Given the description of an element on the screen output the (x, y) to click on. 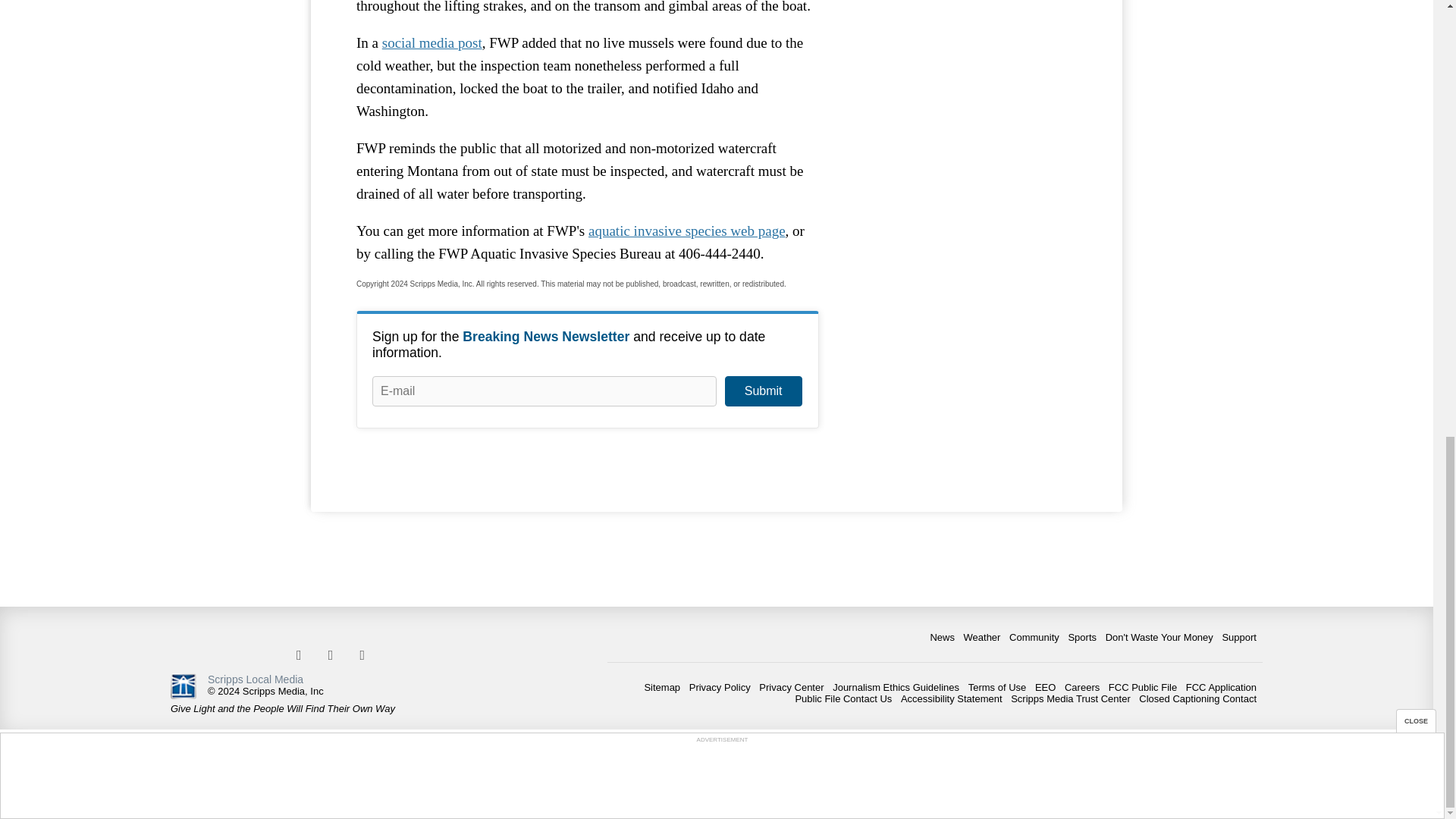
3rd party ad content (962, 17)
Submit (763, 390)
